Given the description of an element on the screen output the (x, y) to click on. 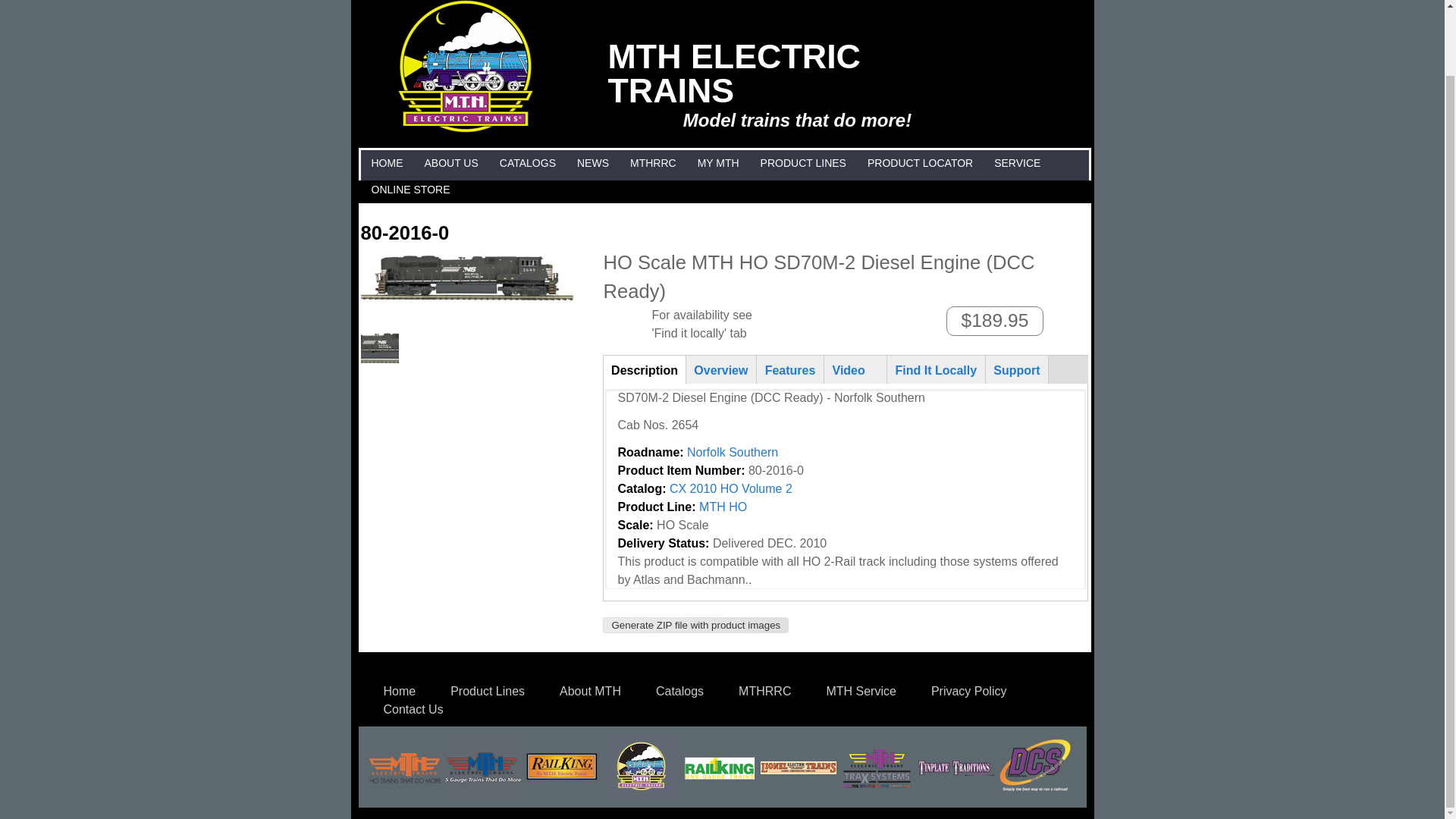
HOME (386, 162)
ABOUT US (451, 162)
MTH ELECTRIC TRAINS (465, 128)
Features (789, 369)
MTHRRC (652, 162)
SERVICE (1016, 162)
Generate ZIP file with product images (695, 625)
CATALOGS (527, 162)
MY MTH (718, 162)
PRODUCT LOCATOR (919, 162)
NEWS (593, 162)
PRODUCT LINES (803, 162)
ONLINE STORE (409, 189)
MTH ELECTRIC TRAINS (734, 72)
Home page (734, 72)
